Given the description of an element on the screen output the (x, y) to click on. 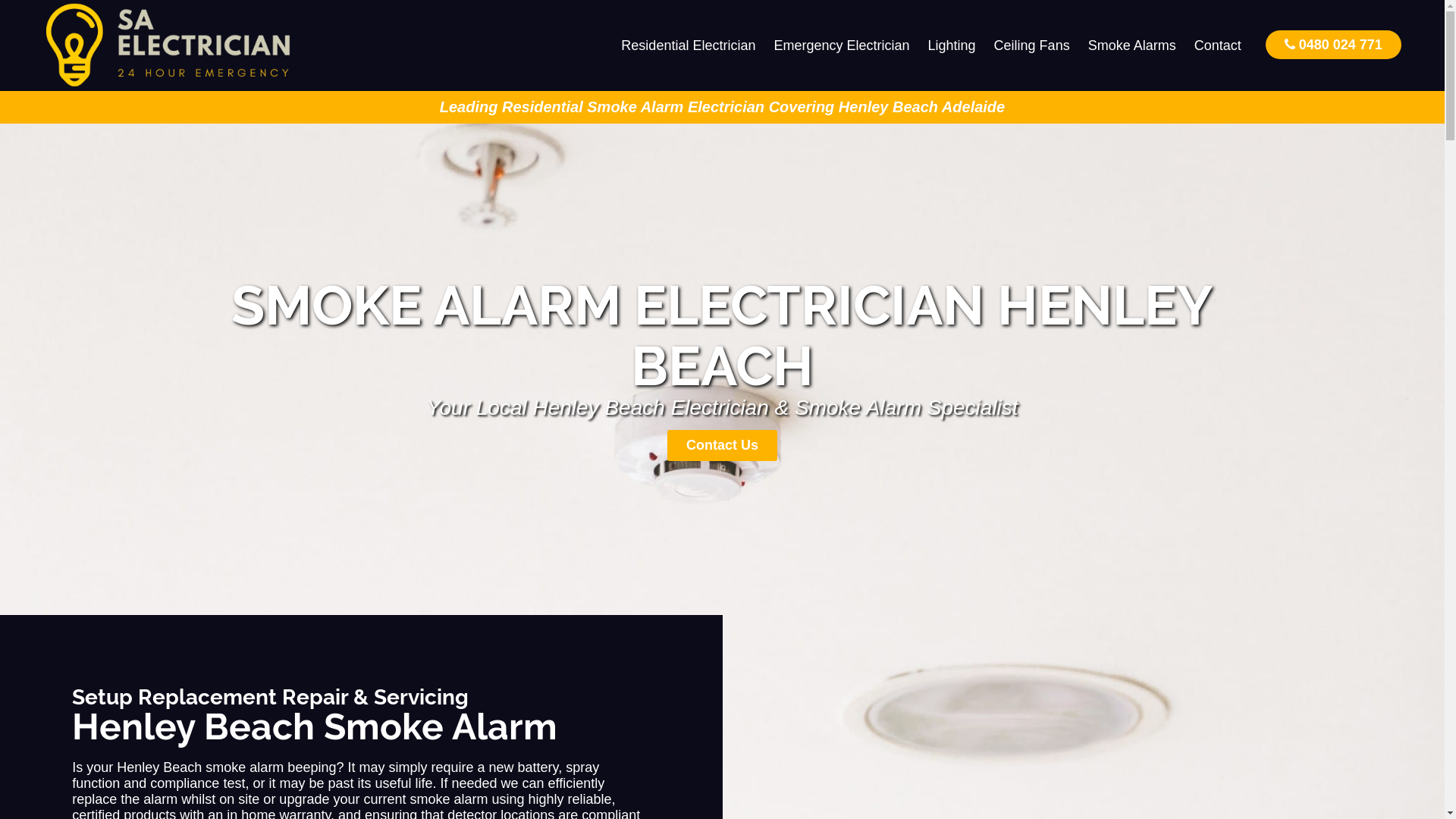
Smoke Alarms Element type: text (1132, 45)
Emergency Electrician Element type: text (841, 45)
Ceiling Fans Element type: text (1032, 45)
0480 024 771 Element type: text (1333, 44)
Residential Electrician Element type: text (687, 45)
Contact Us Element type: text (722, 445)
Lighting Element type: text (952, 45)
Contact Element type: text (1217, 45)
